Given the description of an element on the screen output the (x, y) to click on. 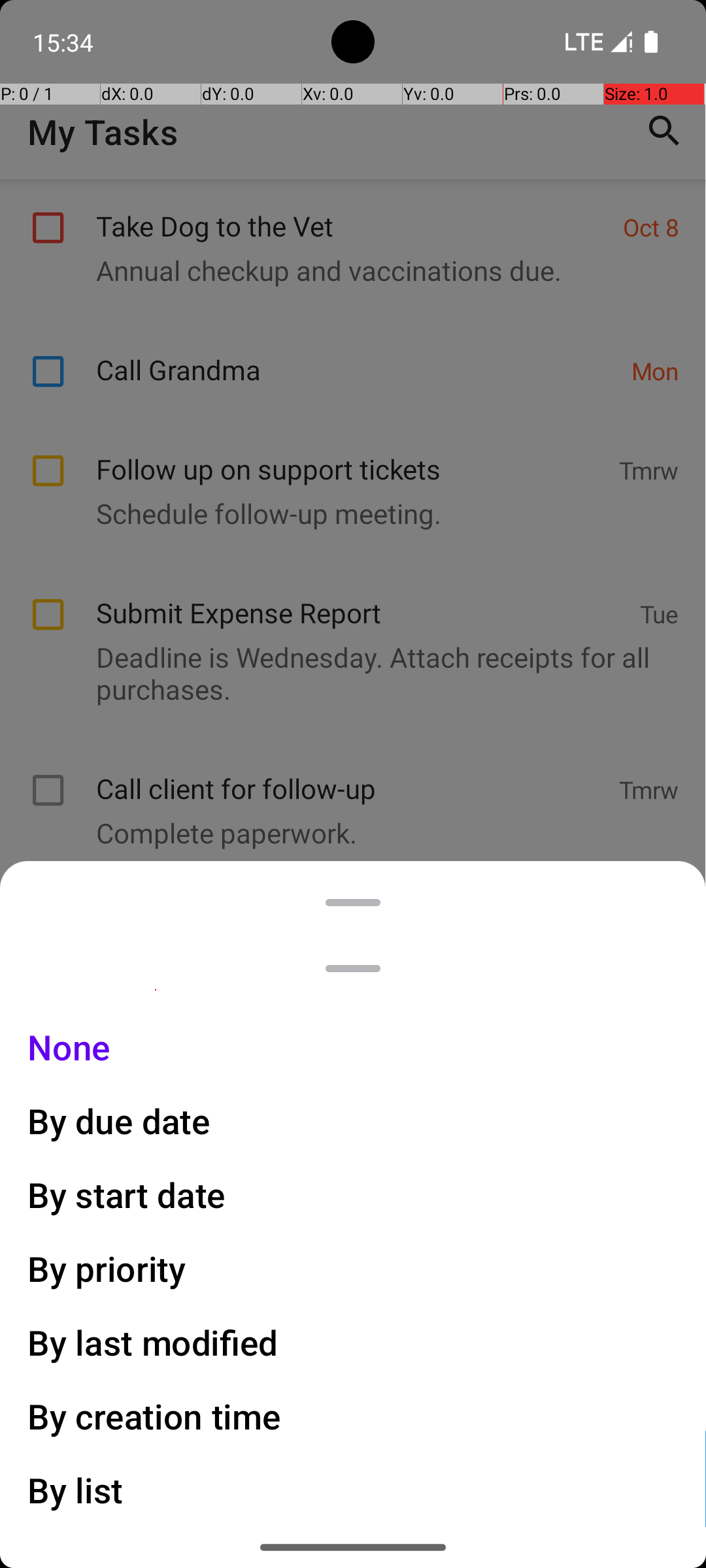
Drag handle Element type: android.view.View (352, 968)
By due date Element type: android.widget.TextView (119, 1120)
By start date Element type: android.widget.TextView (126, 1194)
By priority Element type: android.widget.TextView (106, 1268)
By last modified Element type: android.widget.TextView (152, 1342)
By creation time Element type: android.widget.TextView (154, 1415)
By list Element type: android.widget.TextView (75, 1489)
